Given the description of an element on the screen output the (x, y) to click on. 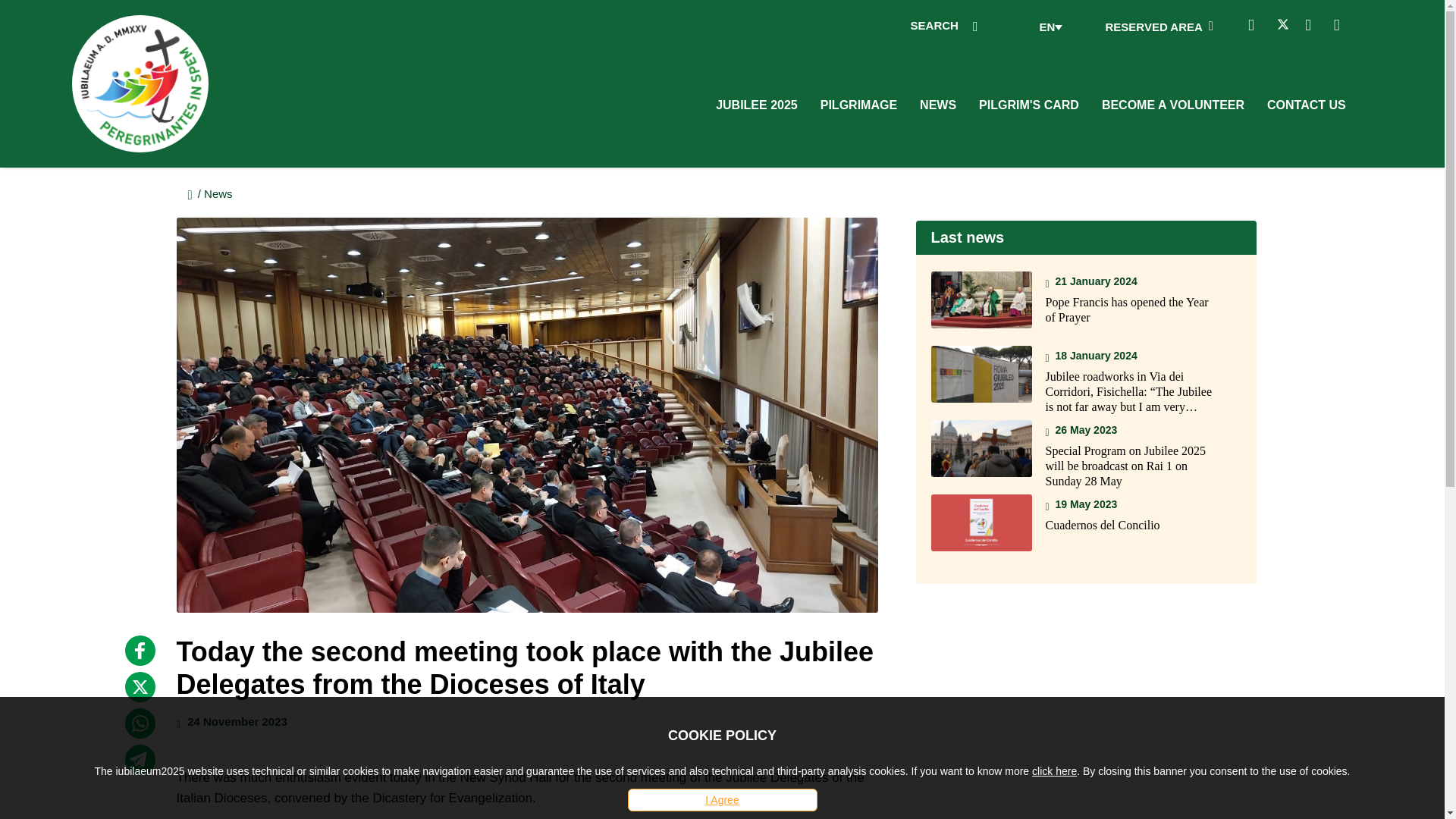
JUBILEE 2025 (756, 104)
facebook (138, 650)
telegram (138, 759)
twitter (138, 686)
EN (1049, 26)
Search (1211, 26)
whatsapp (138, 723)
